Given the description of an element on the screen output the (x, y) to click on. 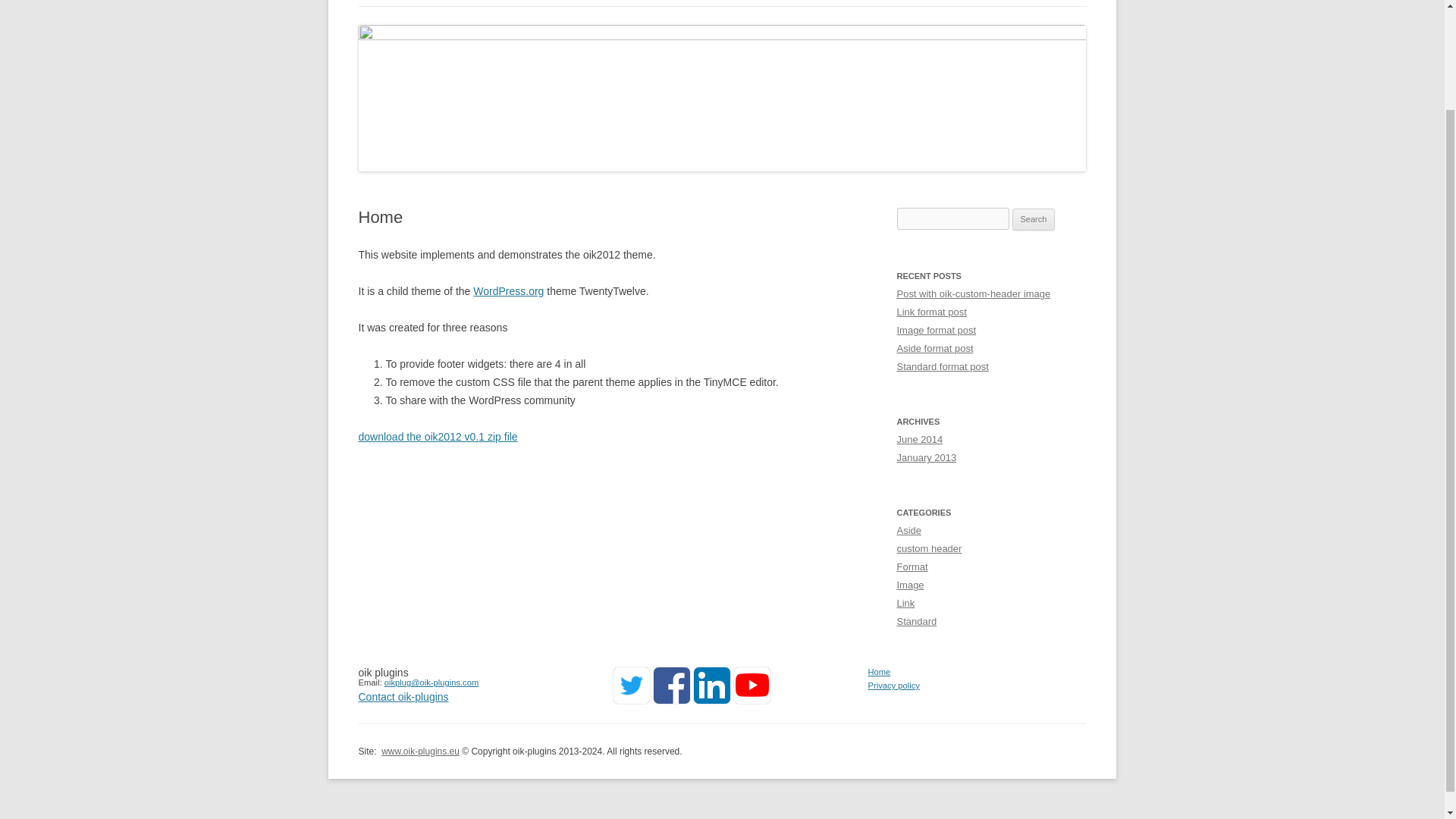
Follow oik plugins on YouTube (753, 699)
Image (909, 584)
CONTACT (602, 2)
Aside format post (934, 348)
Write to oik-plugins (403, 696)
Follow oik plugins on Twitter (632, 699)
BLOG (535, 2)
Search (1033, 219)
Link format post (931, 311)
Image format post (935, 329)
